Given the description of an element on the screen output the (x, y) to click on. 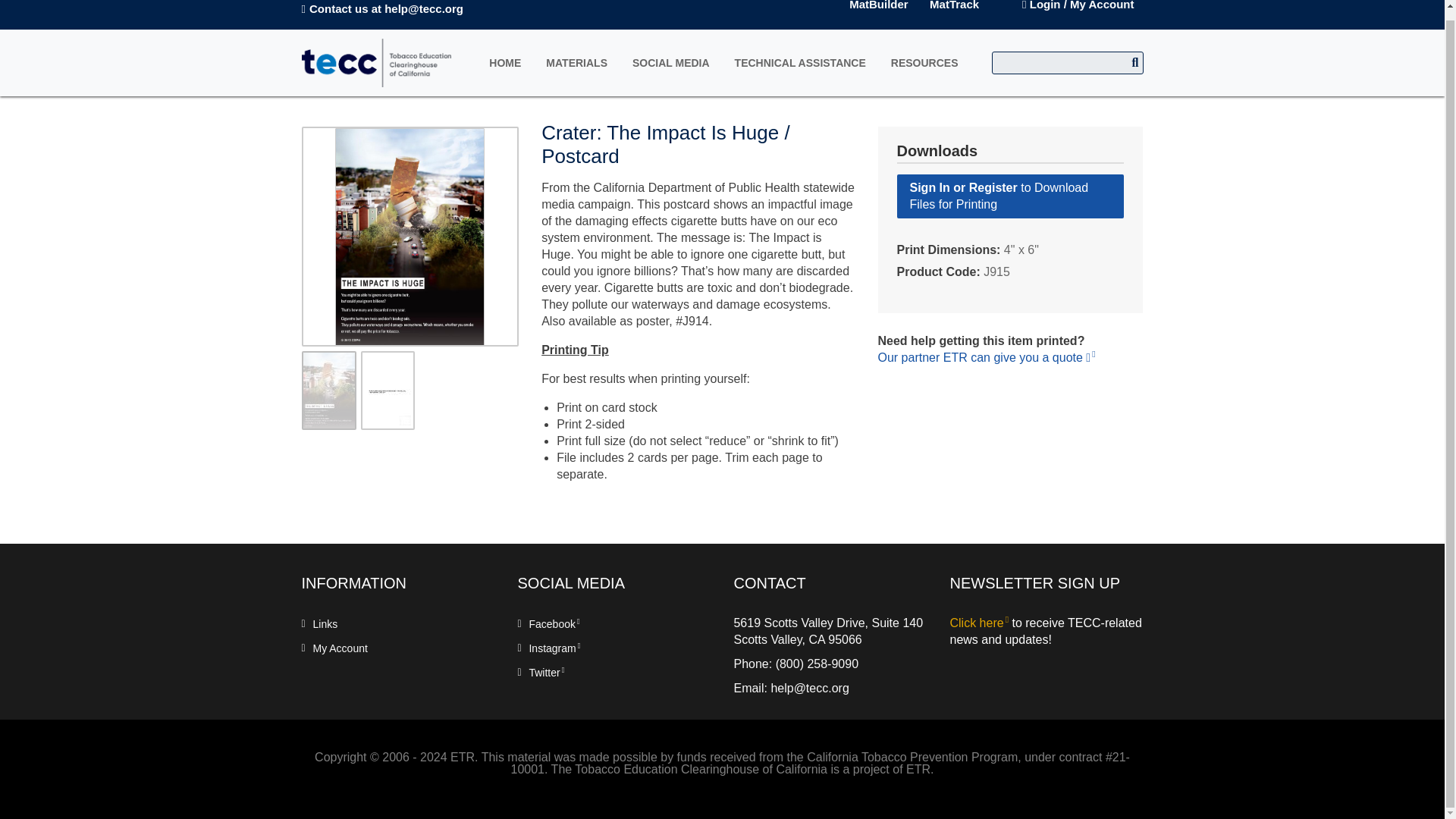
MATERIALS (576, 62)
MatTrack (954, 5)
MatBuilder (878, 5)
Crater-postcard-back (387, 390)
Search this site (1066, 62)
